Given the description of an element on the screen output the (x, y) to click on. 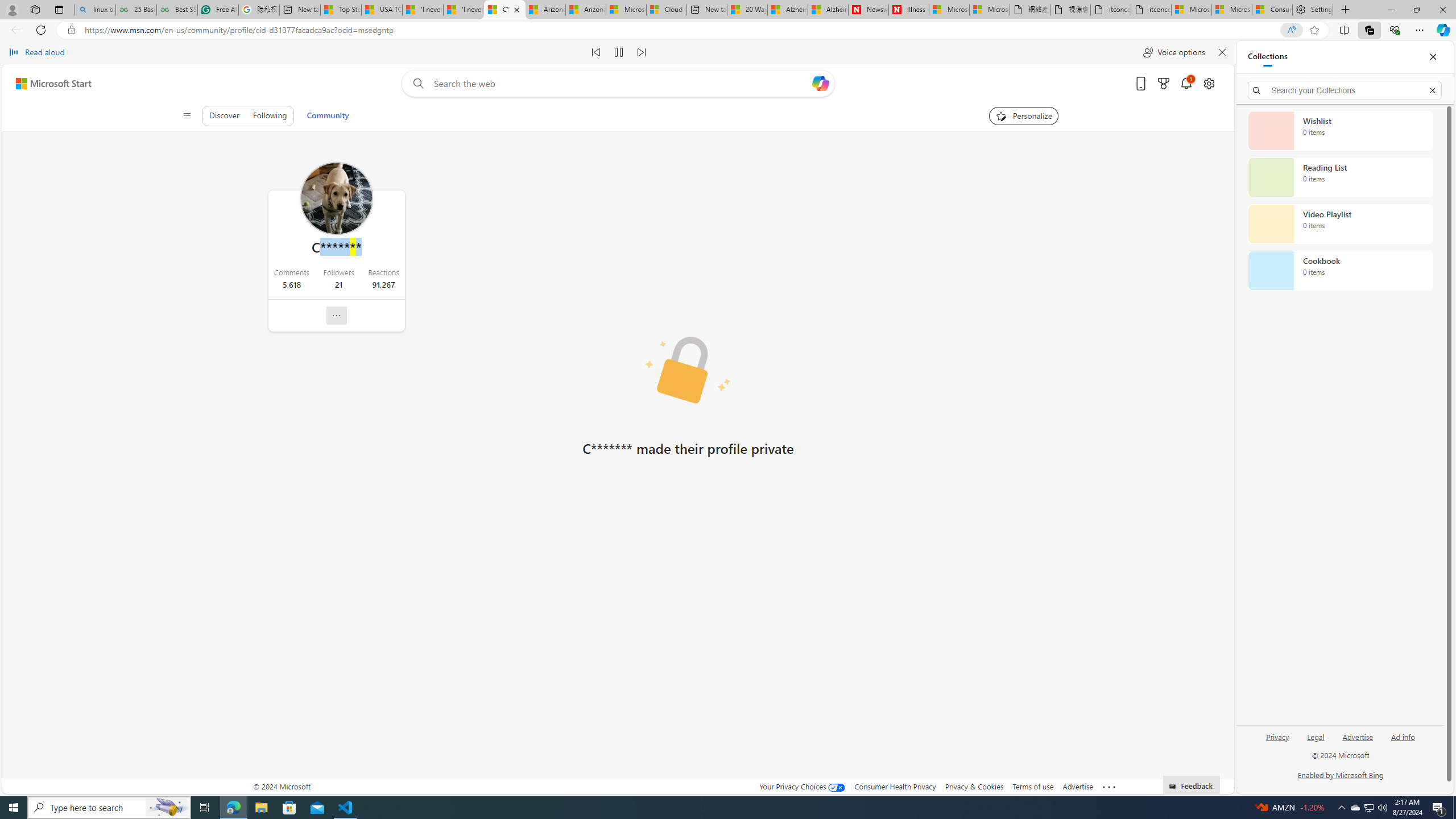
Best SSL Certificates Provider in India - GeeksforGeeks (176, 9)
Class: cwt-icon-vector (336, 315)
Private profile picture (687, 369)
Your Privacy Choices (801, 785)
Voice options (1174, 52)
Class: control icon-only (186, 116)
